Given the description of an element on the screen output the (x, y) to click on. 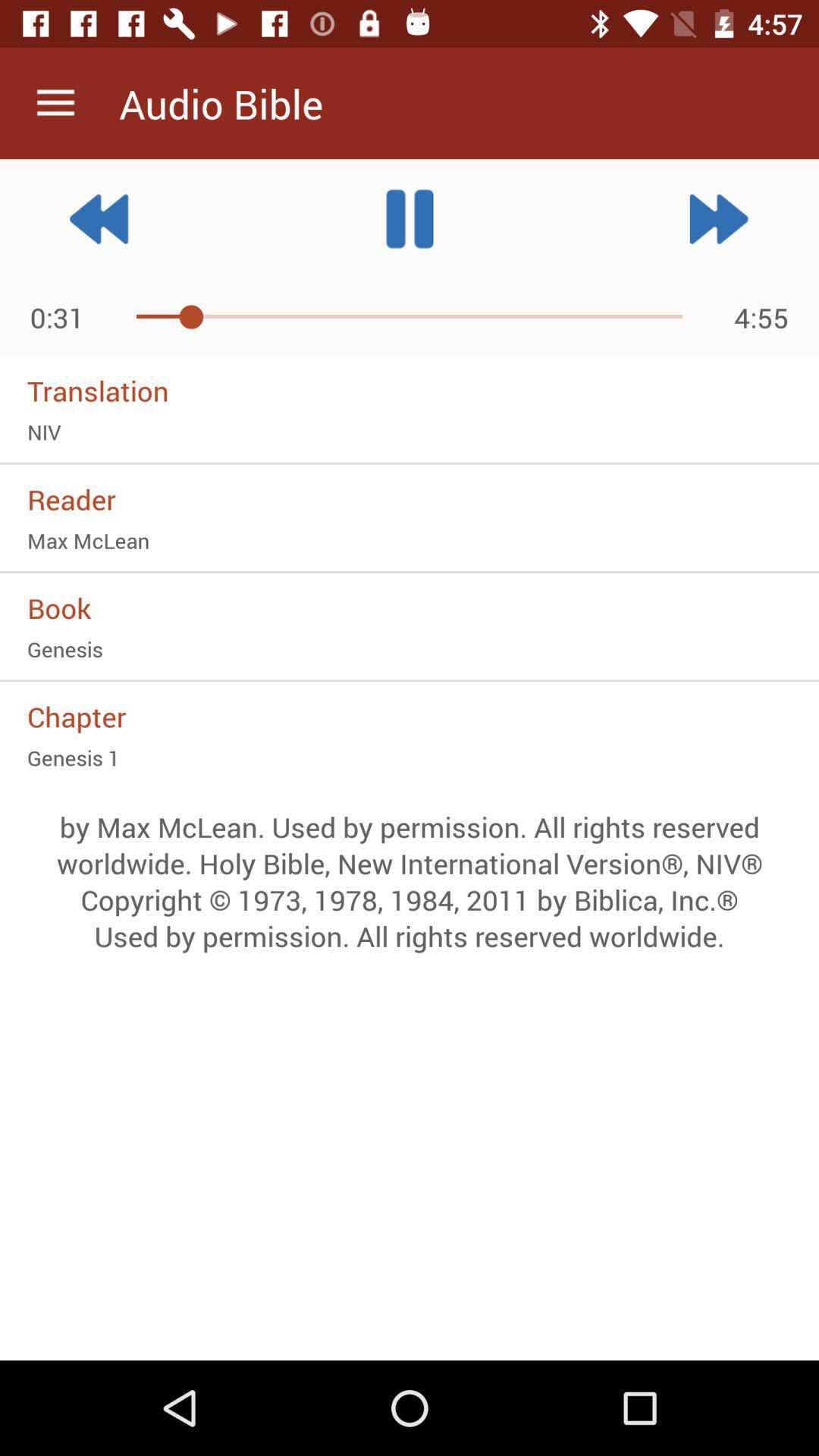
turn off genesis 1 item (409, 757)
